Given the description of an element on the screen output the (x, y) to click on. 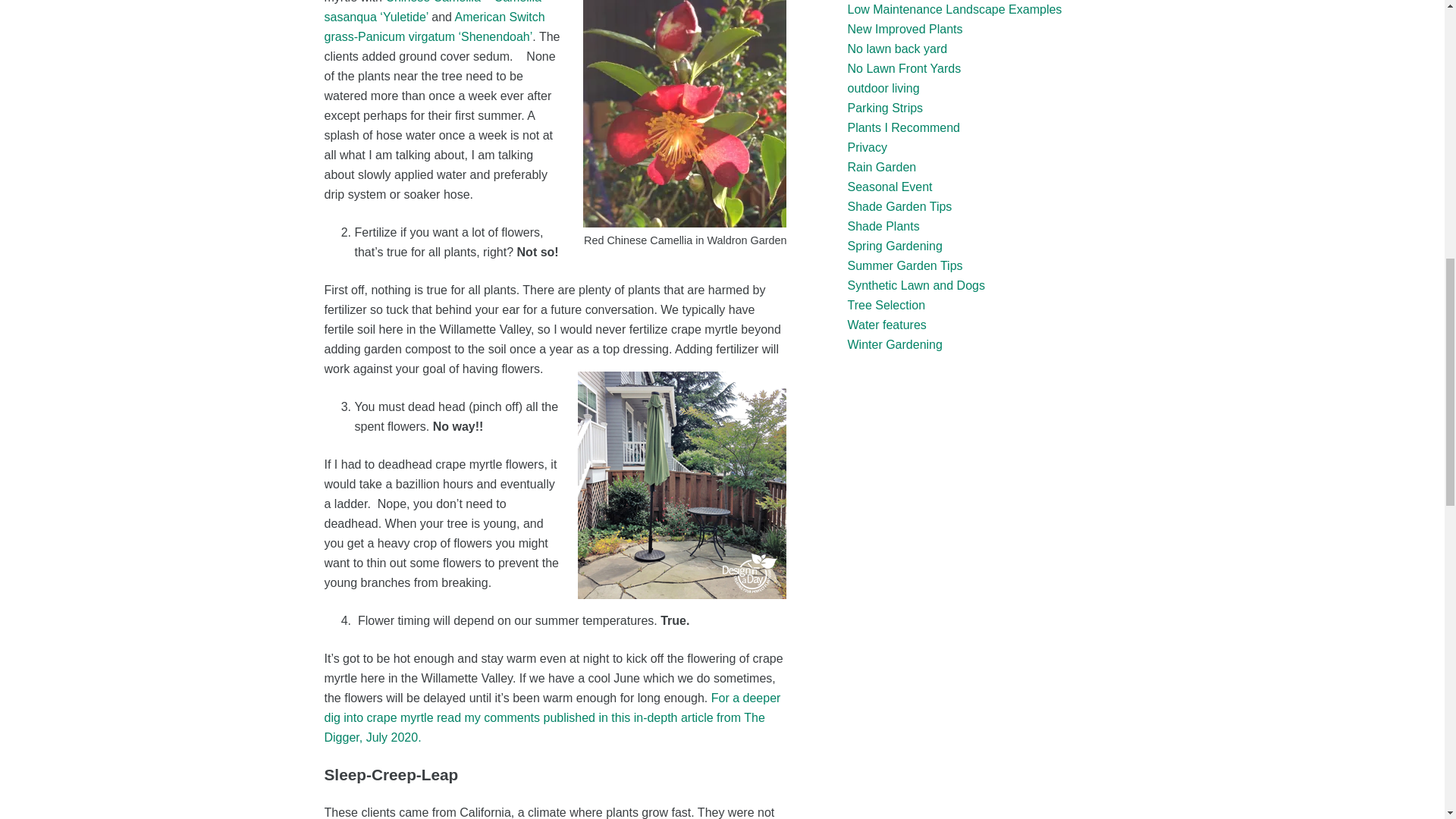
Portland landscaping includes crape myrtle. (682, 484)
